Given the description of an element on the screen output the (x, y) to click on. 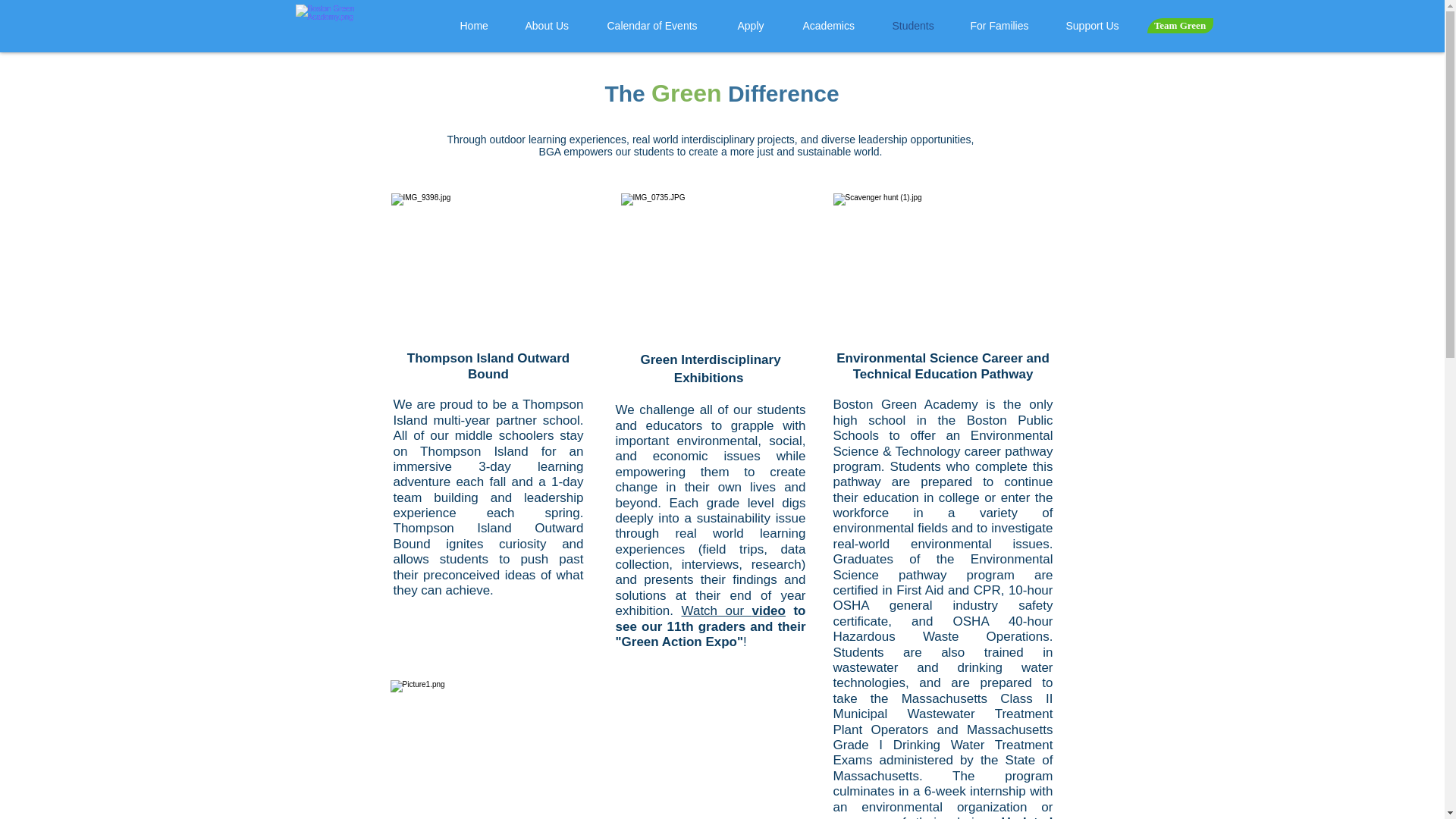
Students (915, 25)
Apply (754, 25)
Academics (831, 25)
About Us (550, 25)
Calendar of Events (656, 25)
Home (476, 25)
For Families (1003, 25)
